Given the description of an element on the screen output the (x, y) to click on. 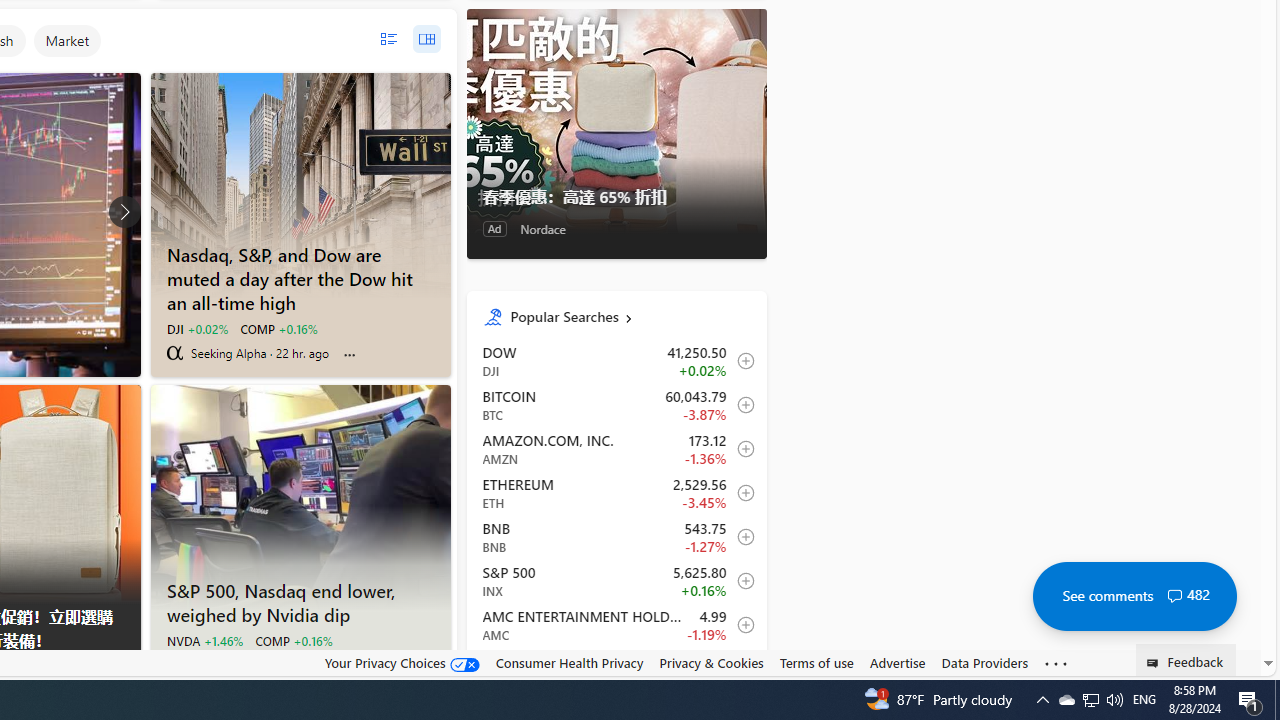
Seeking Alpha (174, 352)
See comments 482 (1133, 596)
NVDA +1.46% (204, 640)
Market (67, 40)
Advertise (897, 663)
AdChoices (123, 669)
Privacy & Cookies (711, 662)
Terms of use (816, 663)
Advertise (897, 662)
Class: cwt-icon-vector (1174, 596)
